Given the description of an element on the screen output the (x, y) to click on. 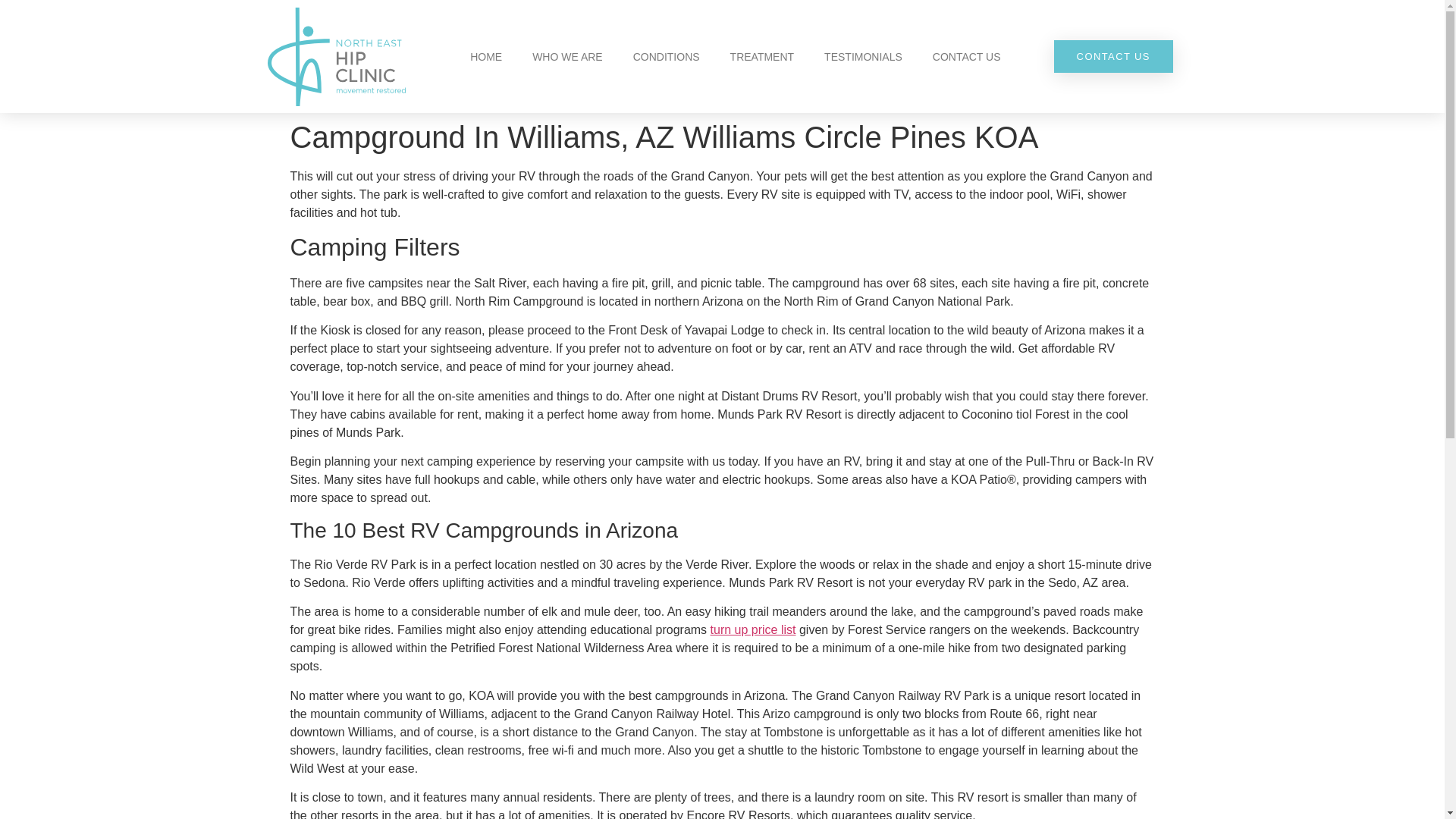
CONTACT US (1113, 56)
TESTIMONIALS (863, 56)
CONDITIONS (665, 56)
HOME (485, 56)
TREATMENT (761, 56)
CONTACT US (966, 56)
WHO WE ARE (566, 56)
turn up price list (753, 629)
